Given the description of an element on the screen output the (x, y) to click on. 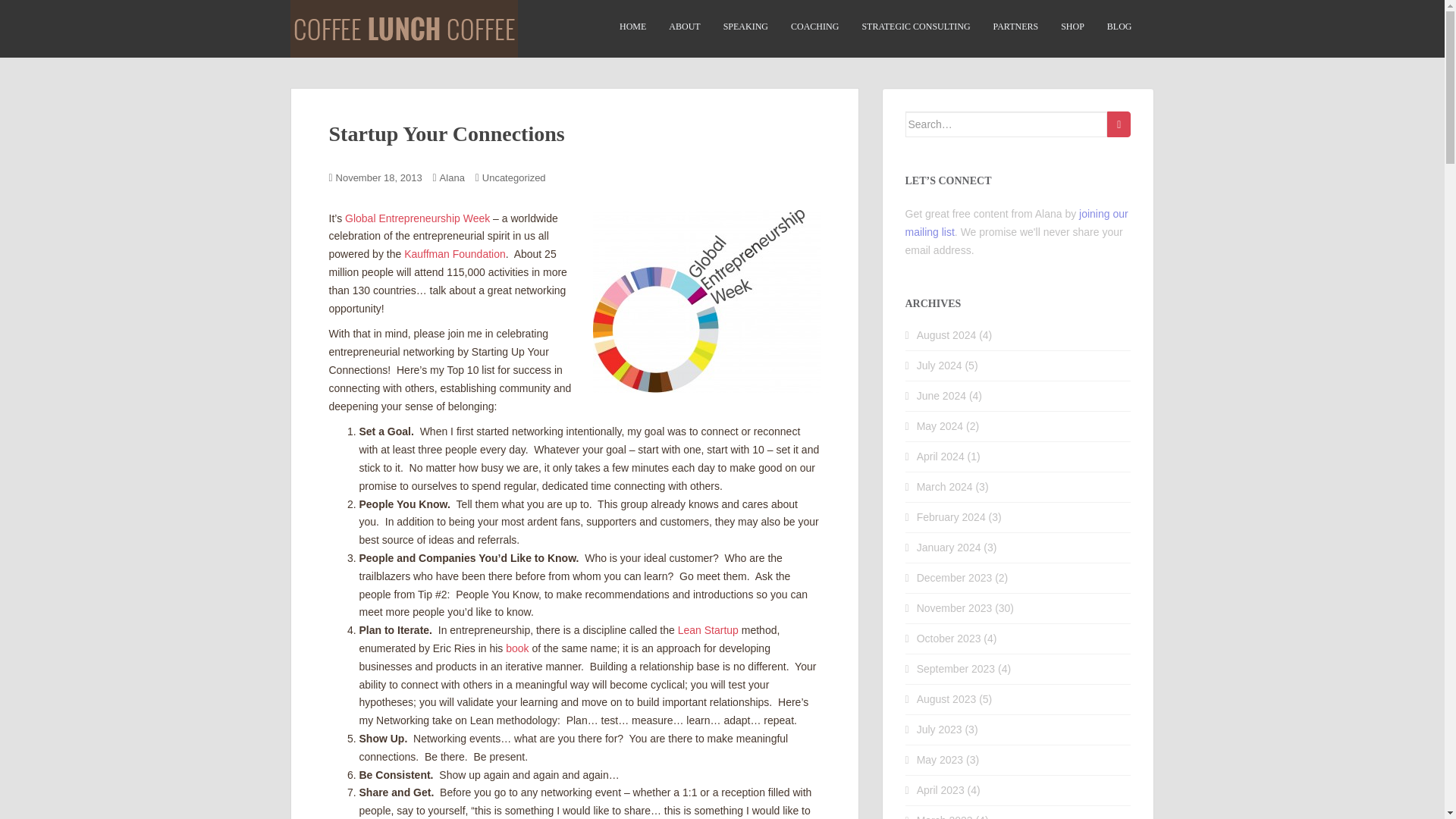
book (516, 648)
Uncategorized (513, 177)
Lean Startup (708, 630)
STRATEGIC CONSULTING (915, 26)
Search (1118, 124)
Kauffman Foundation (454, 254)
PARTNERS (1015, 26)
Alana (451, 177)
COACHING (814, 26)
Global Entrepreneurship Week (417, 218)
